Given the description of an element on the screen output the (x, y) to click on. 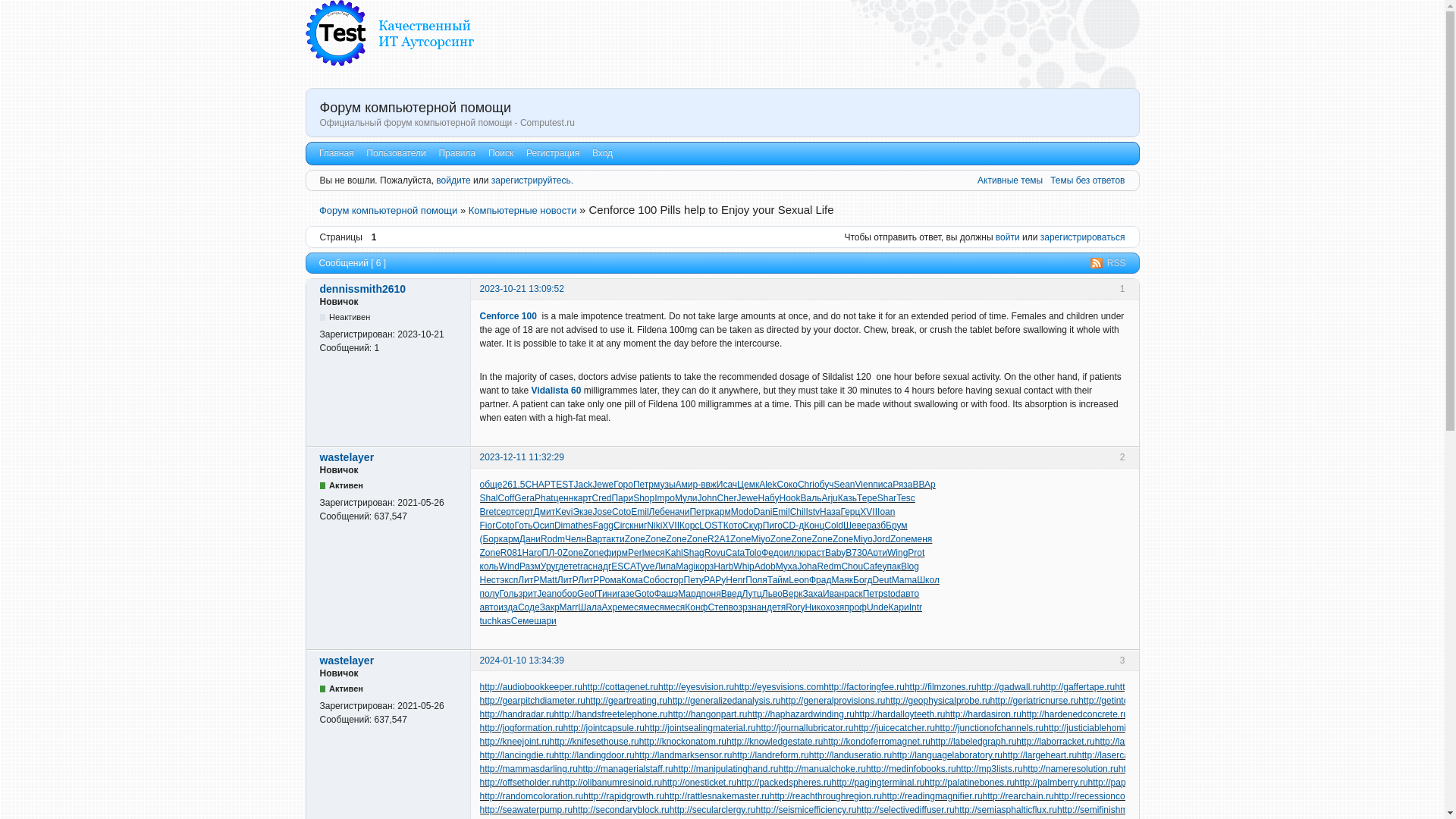
RSS (1107, 262)
2023-10-21 13:09:52 (521, 288)
dennissmith2610 (363, 288)
TEST (561, 484)
2023-12-11 11:32:29 (521, 457)
261.5 (513, 484)
Vidalista 60 (555, 389)
Jack (582, 484)
CHAP (537, 484)
wastelayer (347, 457)
Jewe (602, 484)
Cenforce 100 (507, 316)
